Given the description of an element on the screen output the (x, y) to click on. 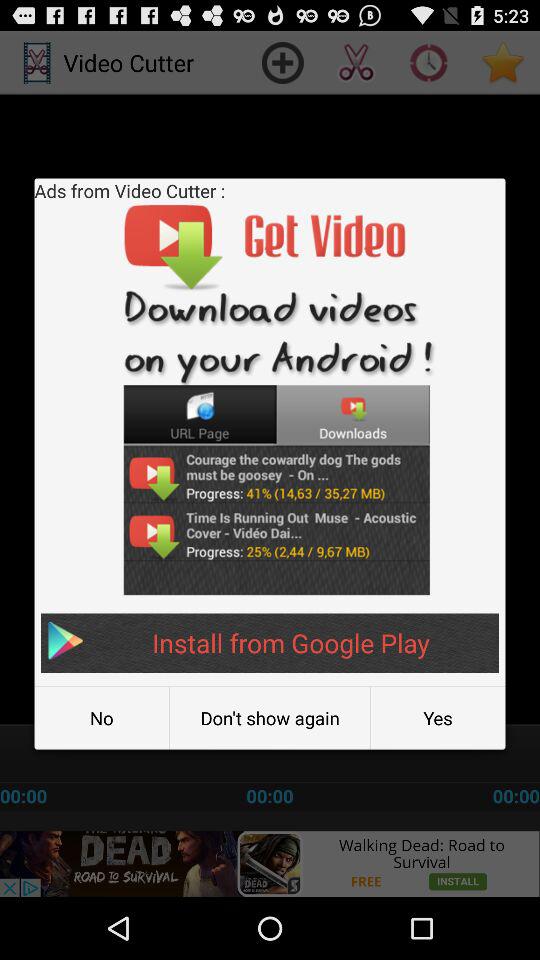
press the button to the right of don t show button (437, 717)
